Given the description of an element on the screen output the (x, y) to click on. 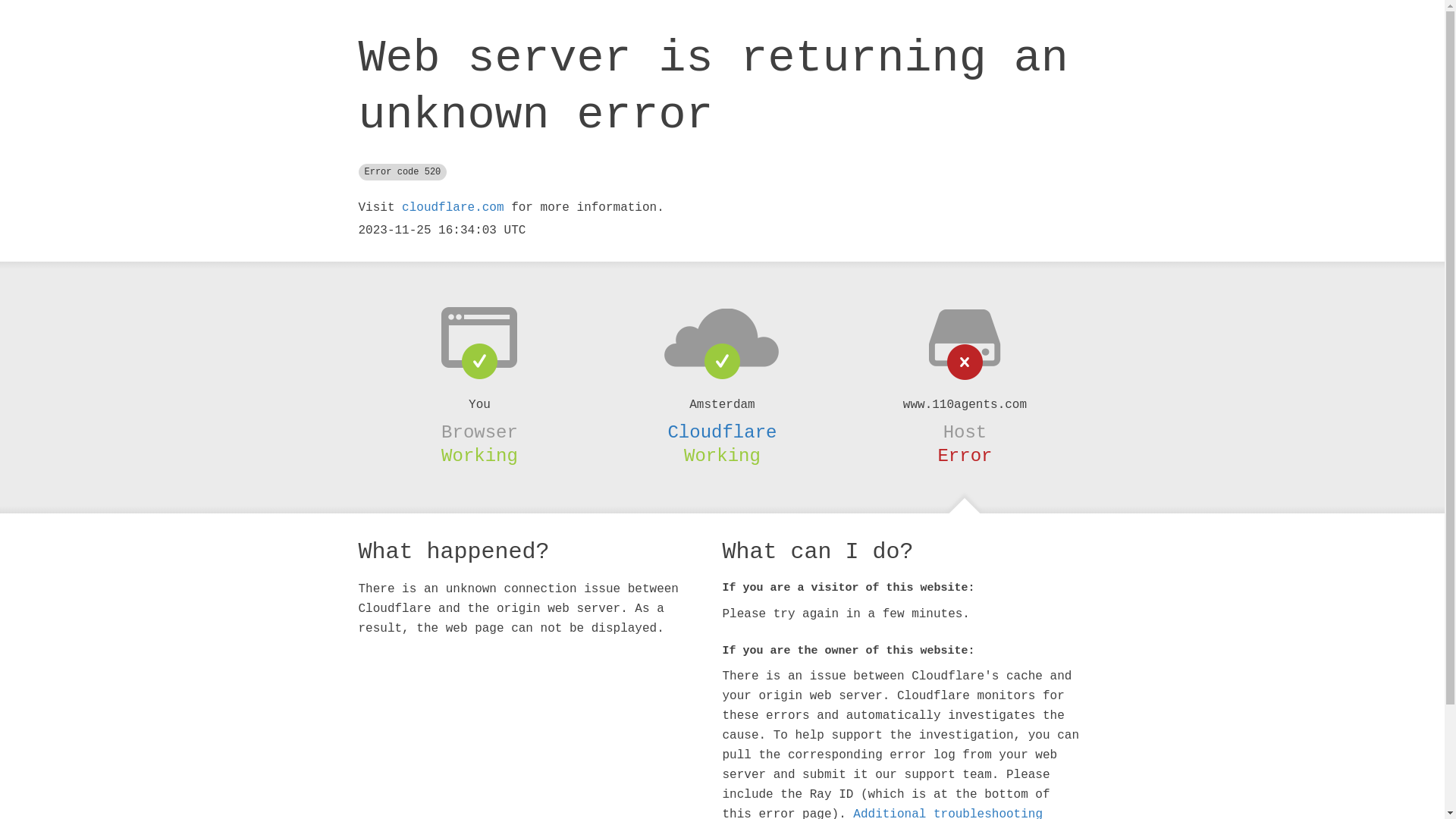
Cloudflare Element type: text (721, 432)
cloudflare.com Element type: text (452, 207)
